Given the description of an element on the screen output the (x, y) to click on. 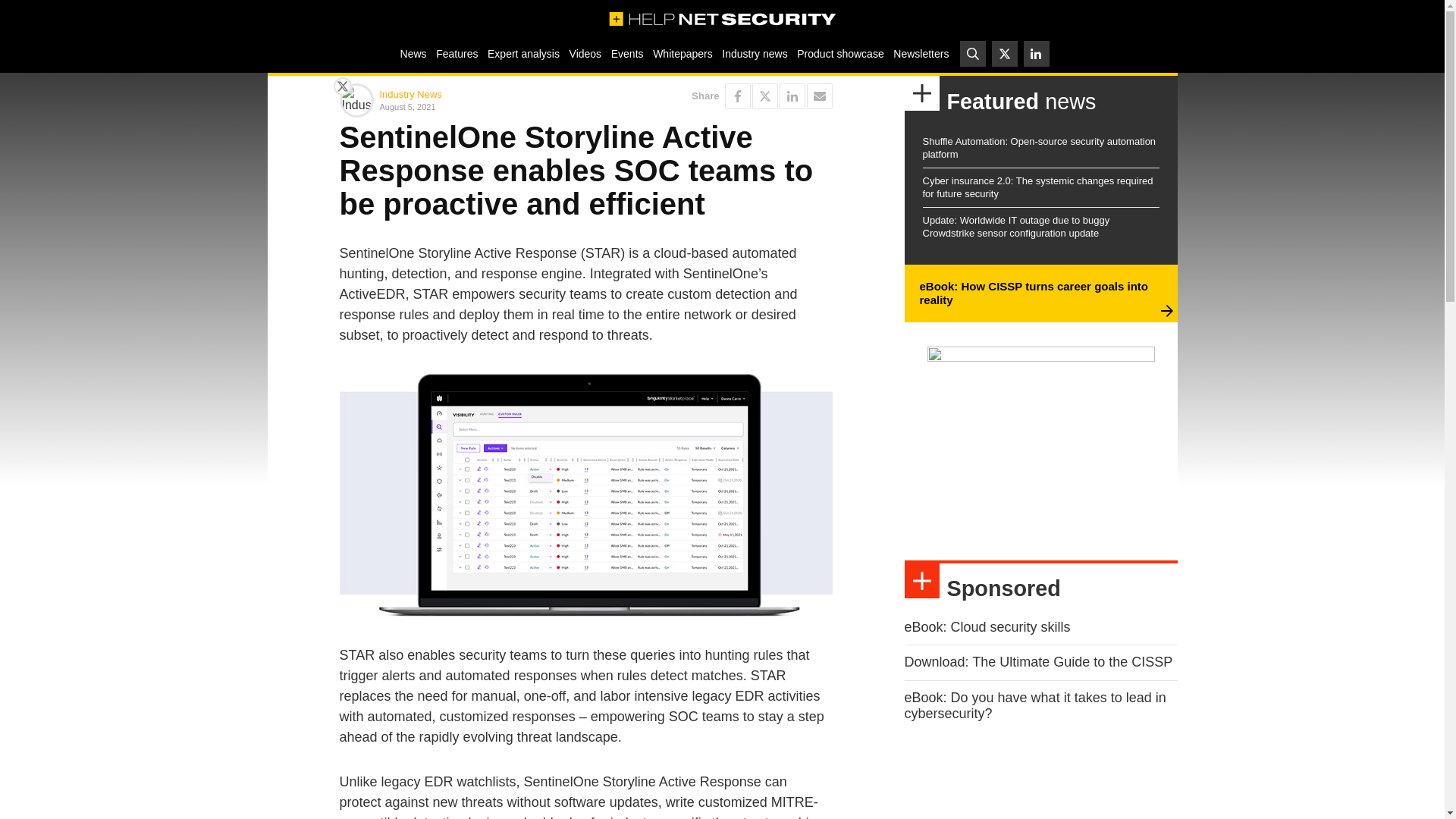
Whitepapers (682, 53)
Events (626, 53)
STAR (585, 494)
News (412, 53)
August 5, 2021 (478, 106)
eBook: Cloud security skills (987, 626)
Product showcase (840, 53)
Shuffle Automation: Open-source security automation platform (1038, 147)
eBook: How CISSP turns career goals into reality (1032, 293)
Features (456, 53)
Industry news (754, 53)
